Given the description of an element on the screen output the (x, y) to click on. 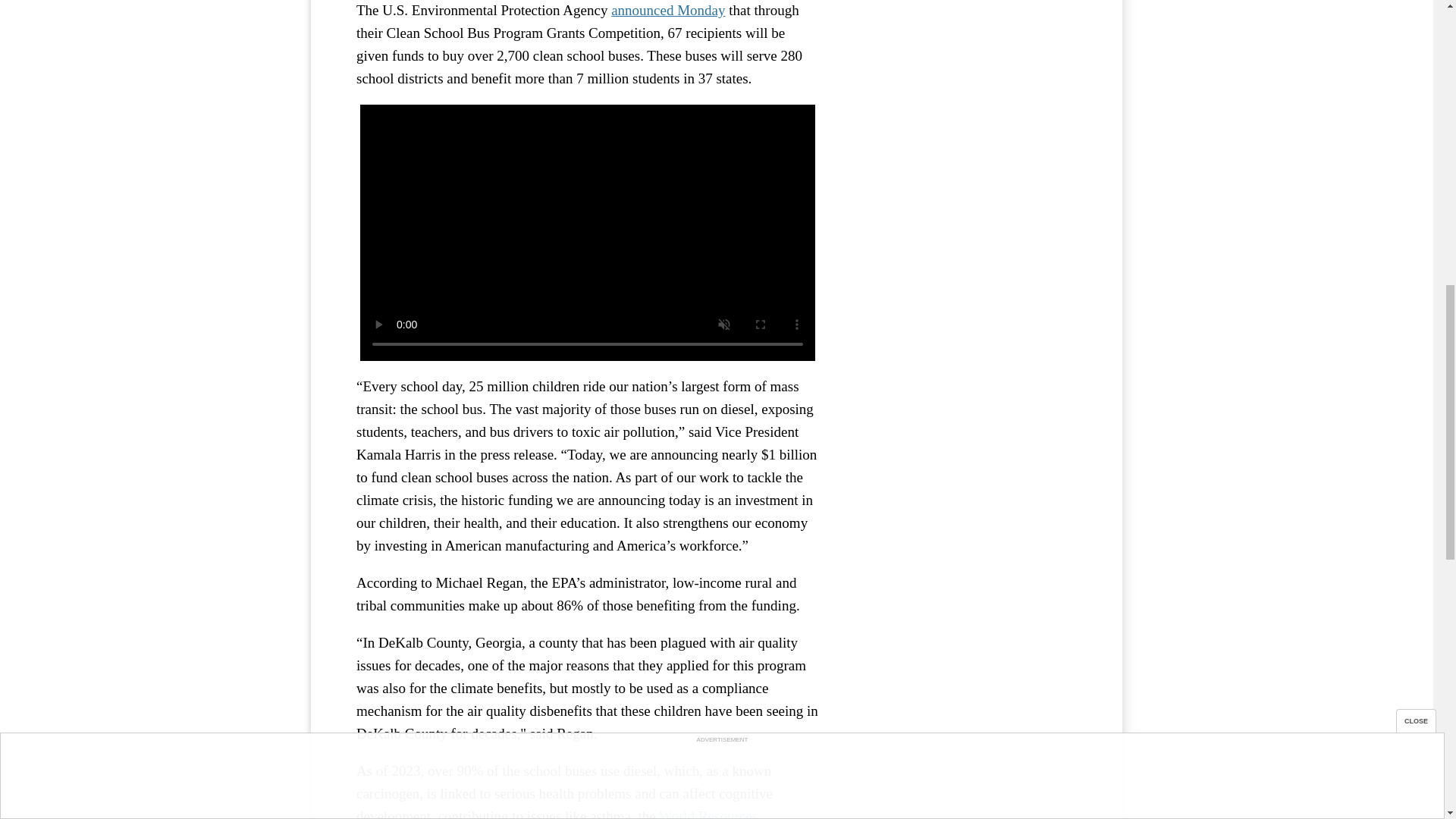
announced Monday (668, 10)
World Resources Institute (556, 813)
